Given the description of an element on the screen output the (x, y) to click on. 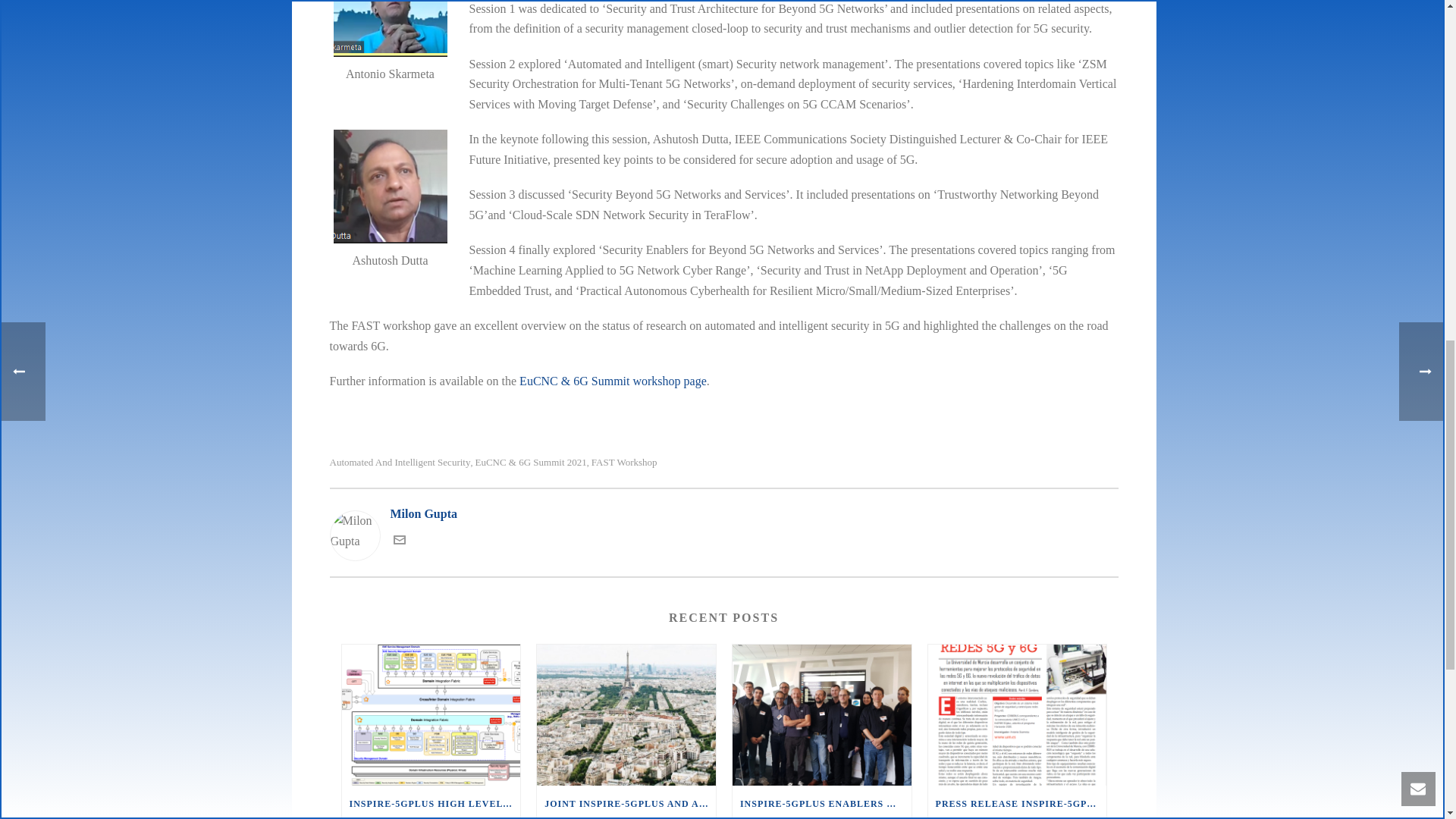
Press release INSPIRE-5Gplus (1017, 715)
INSPIRE-5GPlus High level architecture (429, 715)
Get in touch with me via email (398, 541)
